Given the description of an element on the screen output the (x, y) to click on. 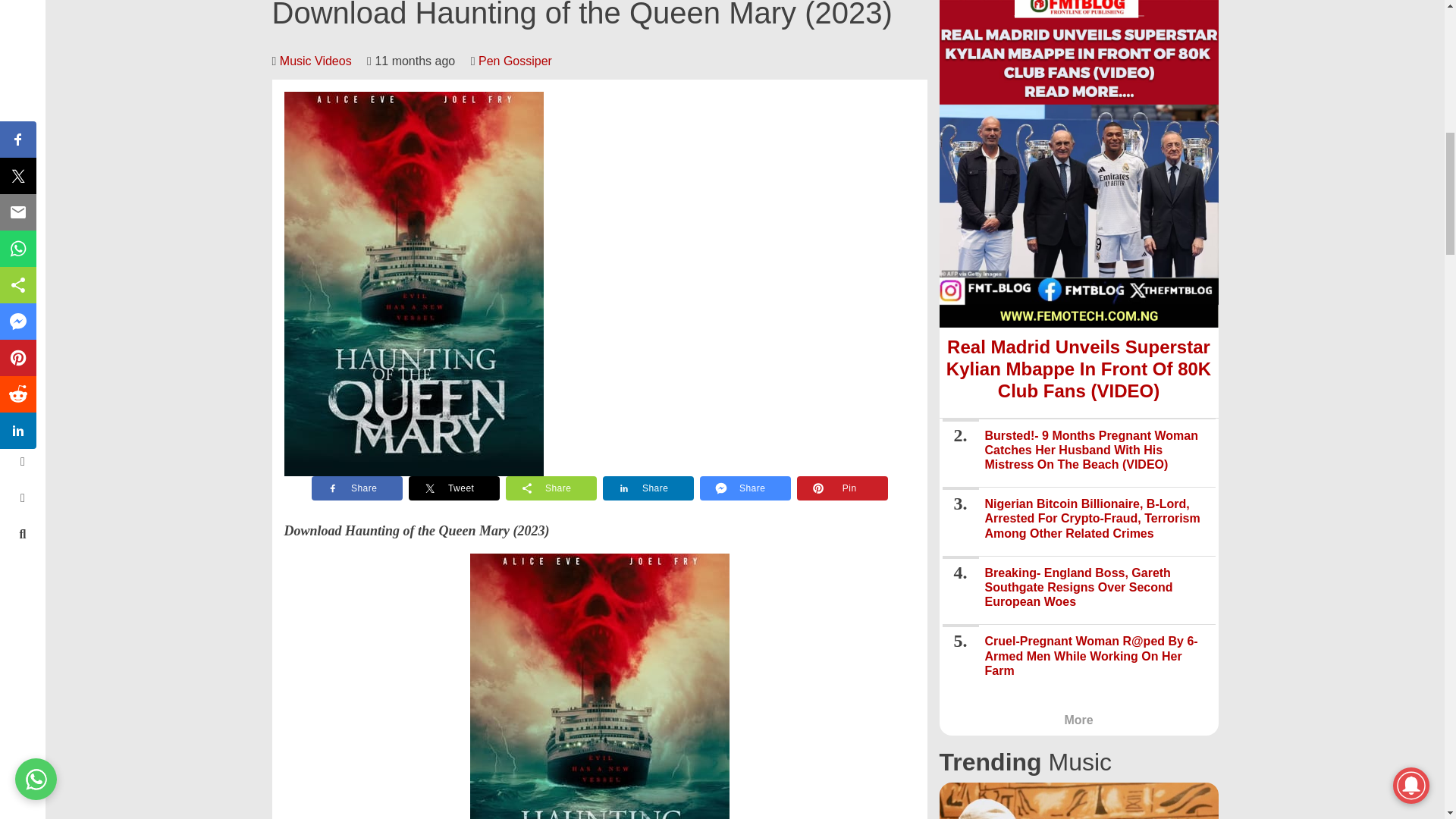
Posts by Pen Gossiper (515, 60)
